Given the description of an element on the screen output the (x, y) to click on. 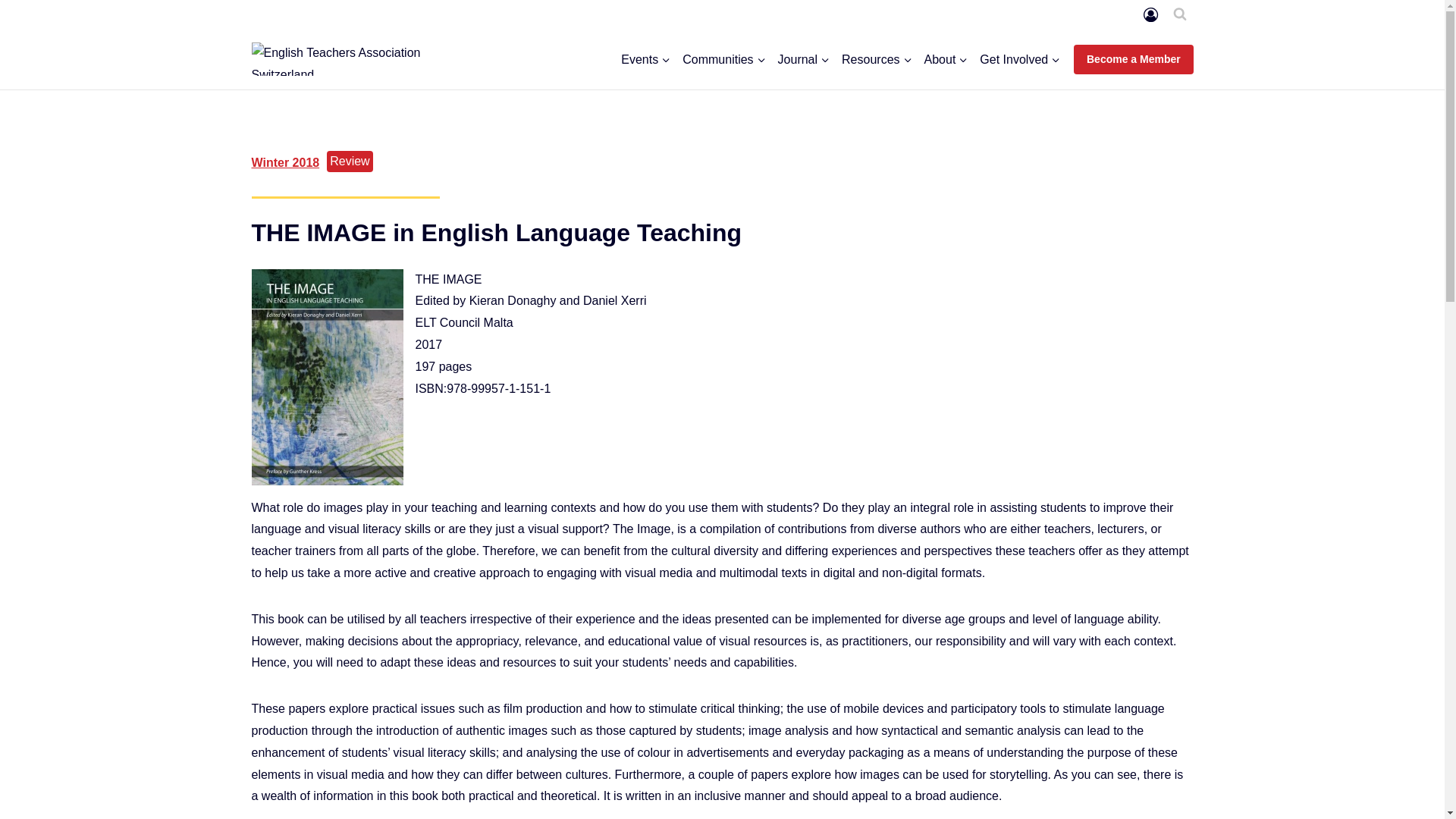
Resources (876, 59)
Events (645, 59)
About (946, 59)
Communities (724, 59)
Journal (803, 59)
